Given the description of an element on the screen output the (x, y) to click on. 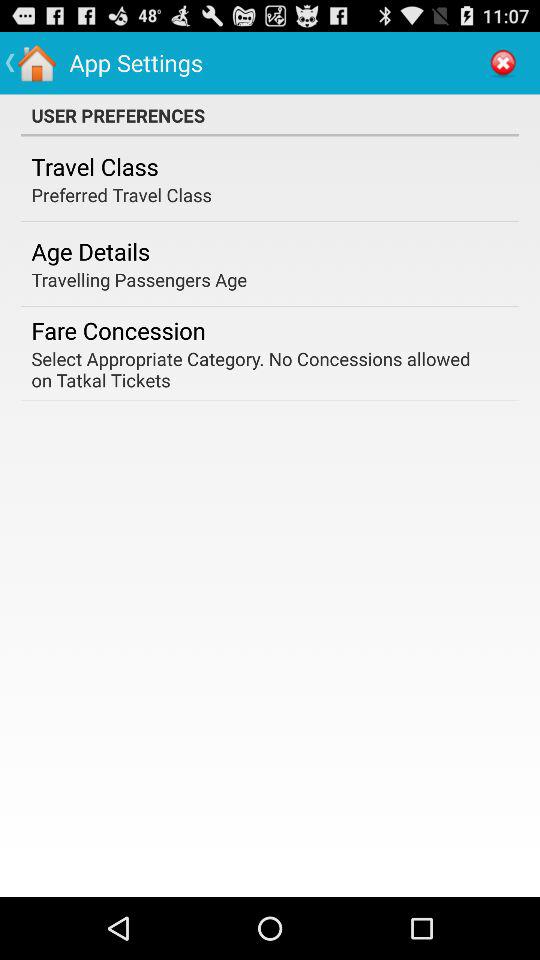
swipe until the fare concession (118, 330)
